Given the description of an element on the screen output the (x, y) to click on. 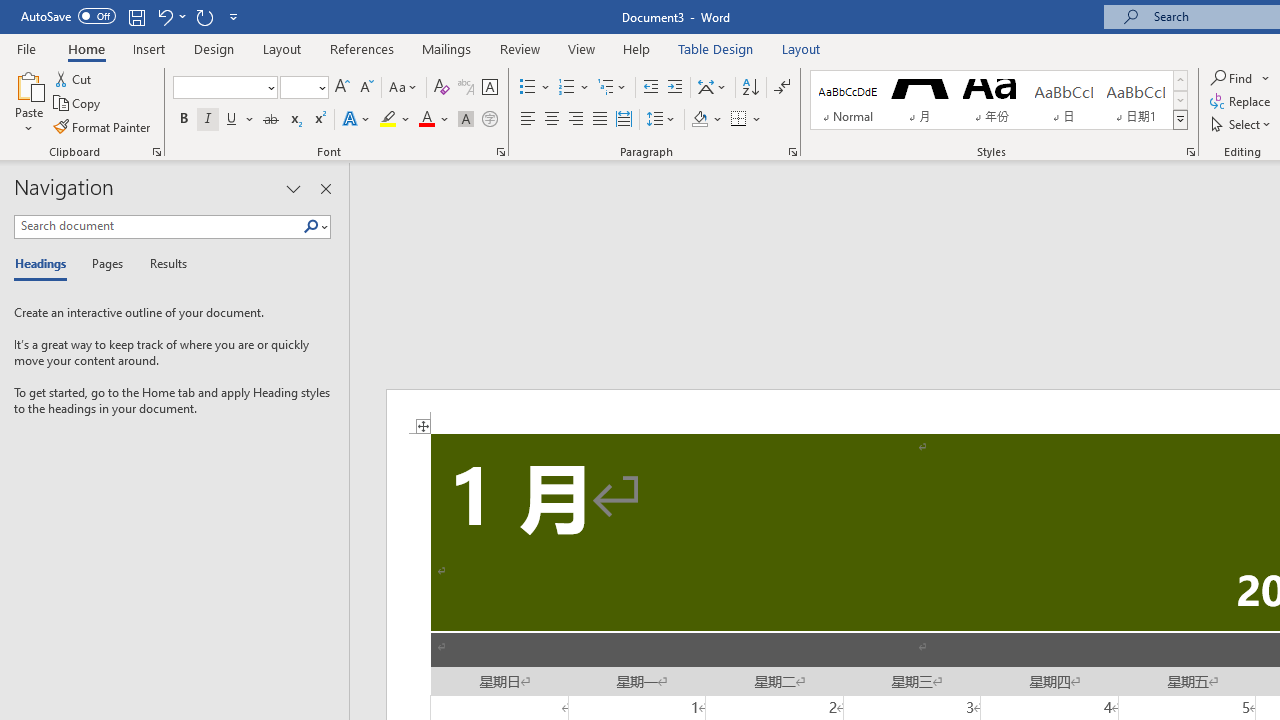
Align Left (527, 119)
AutomationID: QuickStylesGallery (999, 99)
Grow Font (342, 87)
Undo Italic (170, 15)
Font Color RGB(255, 0, 0) (426, 119)
